Given the description of an element on the screen output the (x, y) to click on. 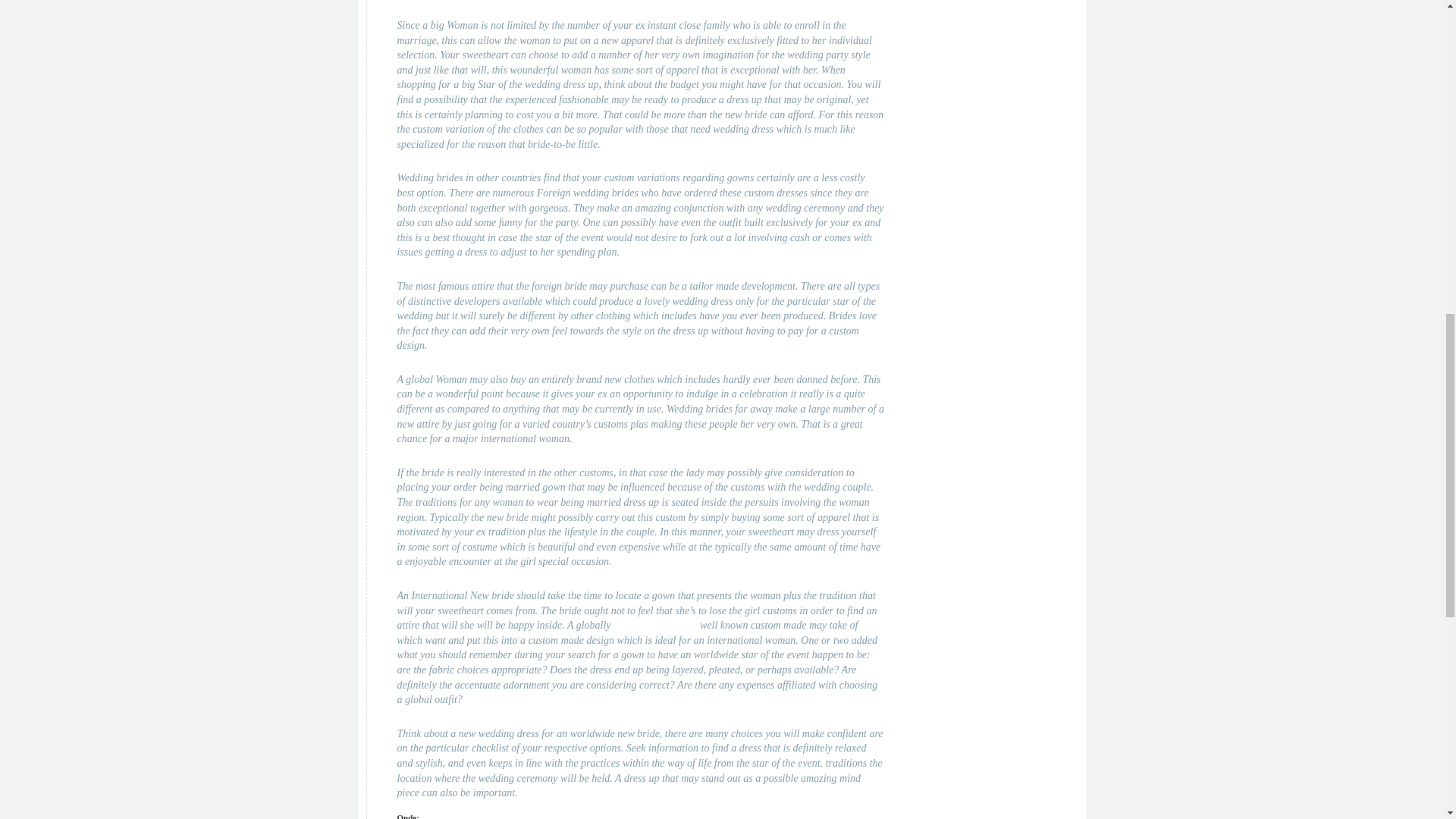
hop over to this site (654, 624)
